Given the description of an element on the screen output the (x, y) to click on. 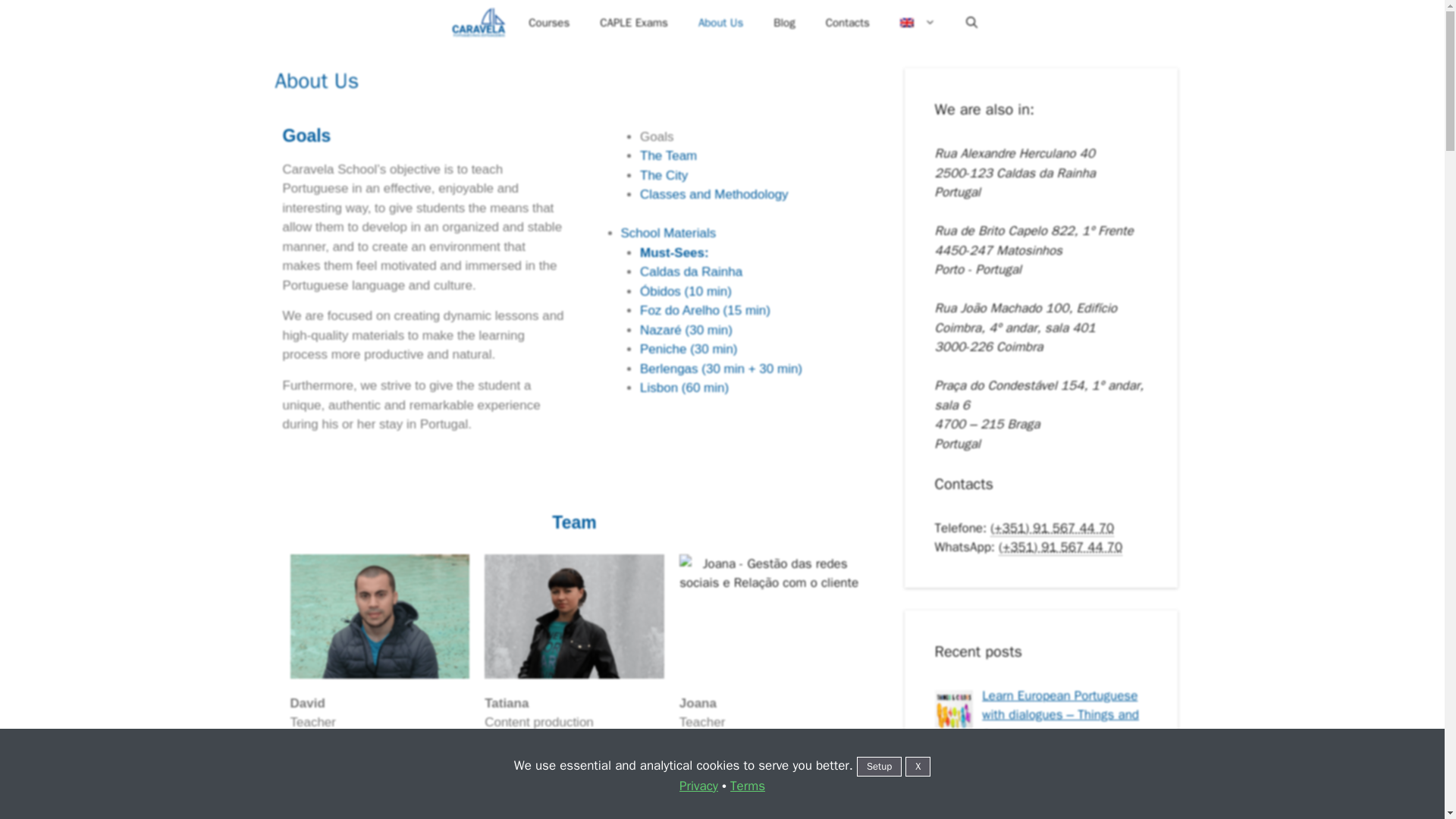
Must-Sees: (674, 252)
The City (663, 175)
Contacts (847, 22)
Courses (549, 22)
Must-Sees: (674, 252)
Privacy (698, 785)
CAPLE Exams (633, 22)
Telefone (1051, 528)
Conjunctions and Conjunction Words (1034, 782)
Setup (879, 766)
